Given the description of an element on the screen output the (x, y) to click on. 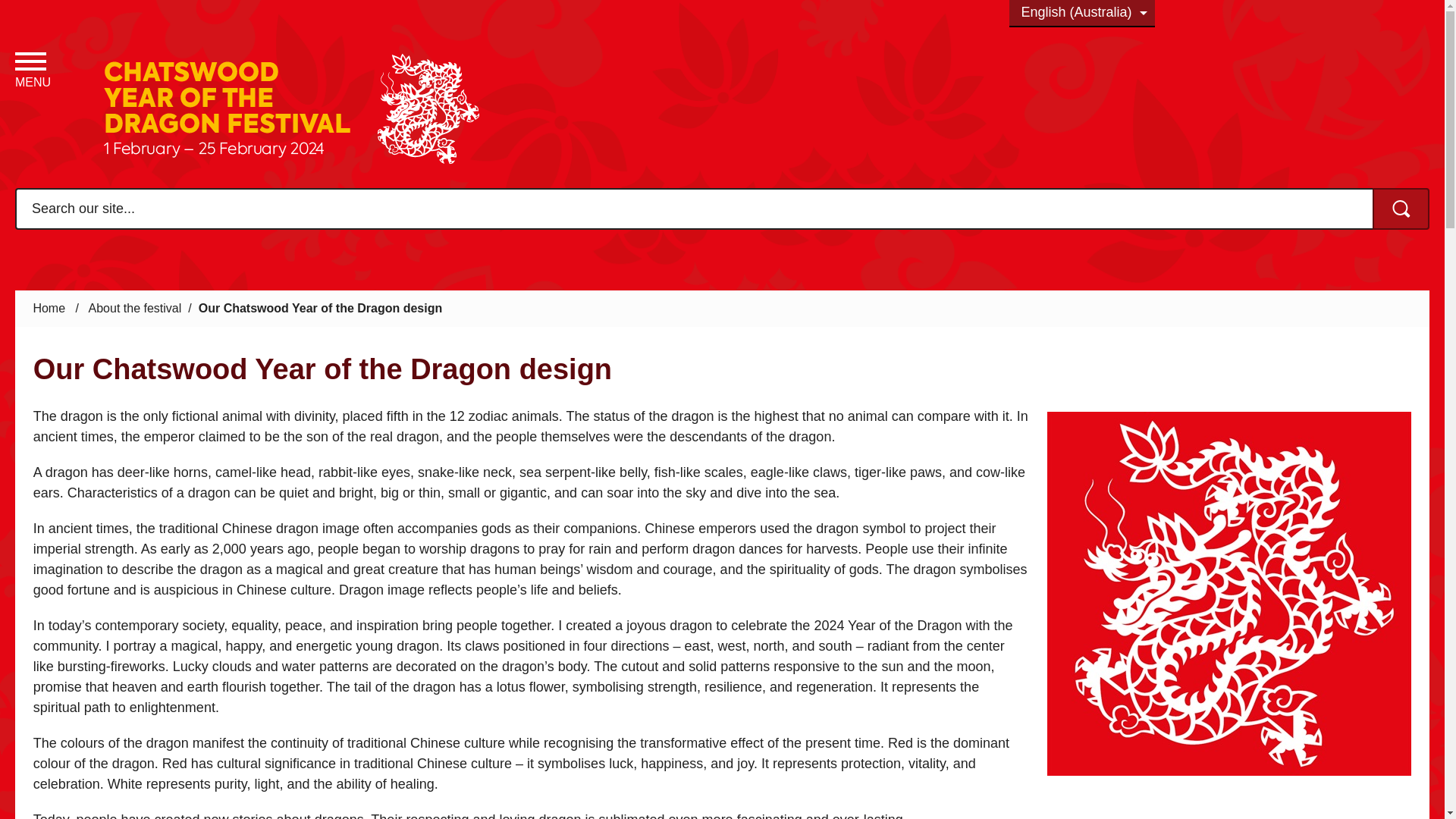
Willoughby City Council - Home - Logo (293, 108)
Search (1401, 209)
Search (1401, 209)
Search (1401, 209)
